Given the description of an element on the screen output the (x, y) to click on. 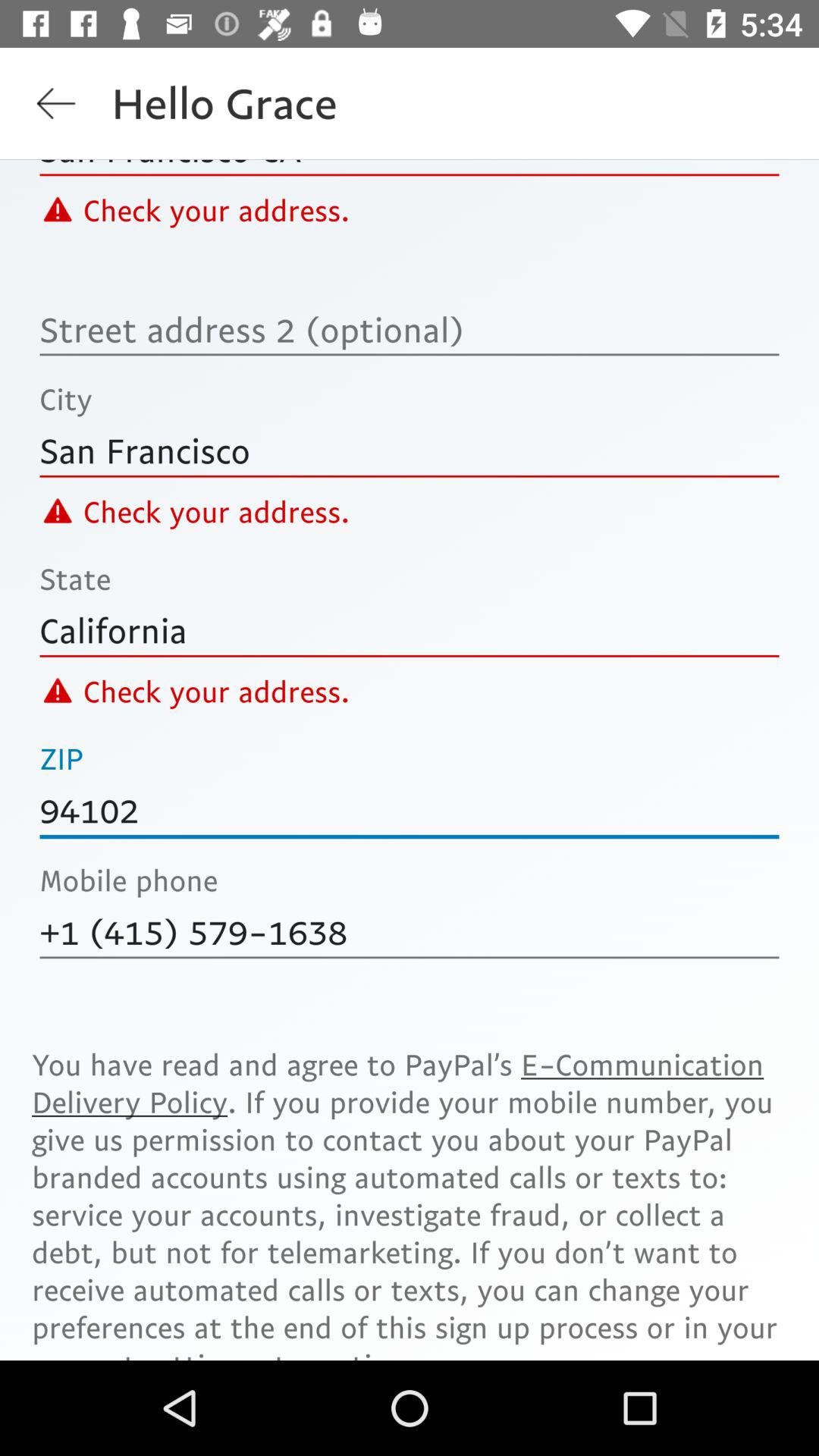
enter street address (409, 329)
